Given the description of an element on the screen output the (x, y) to click on. 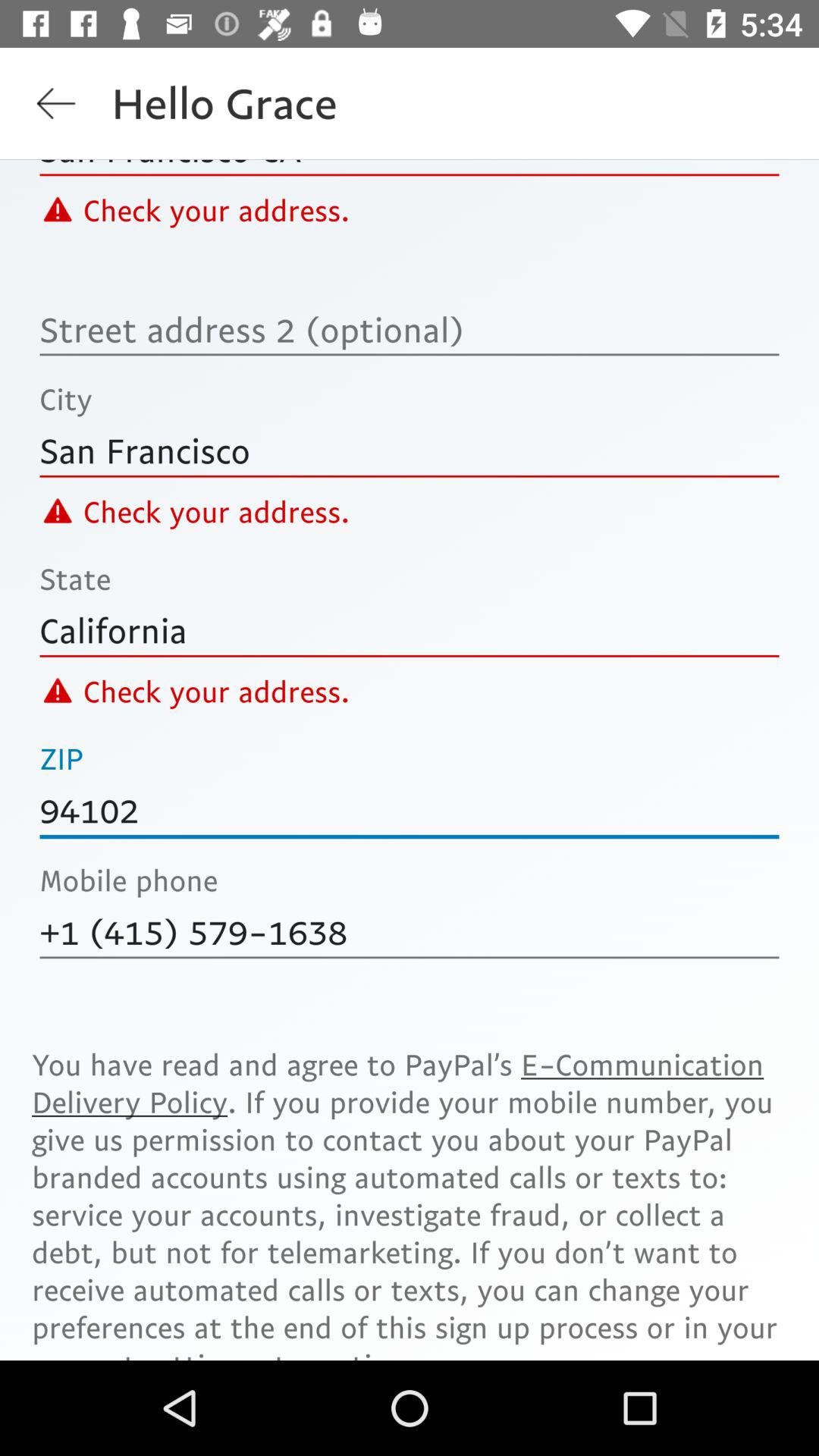
enter street address (409, 329)
